Given the description of an element on the screen output the (x, y) to click on. 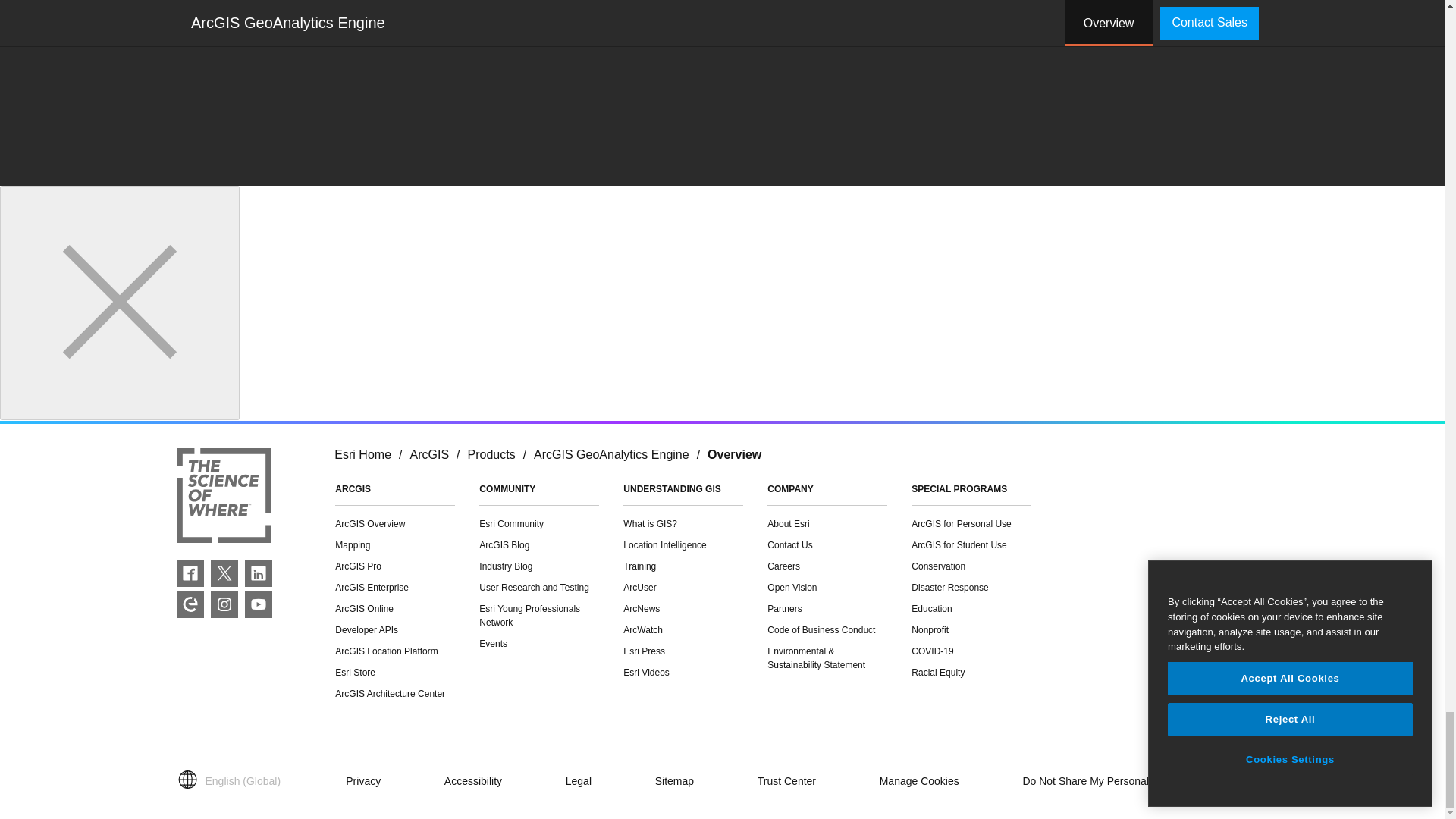
FacebookFacebook (189, 573)
TwitterTwitter (224, 573)
LinkedInLinkedIn (257, 573)
